Given the description of an element on the screen output the (x, y) to click on. 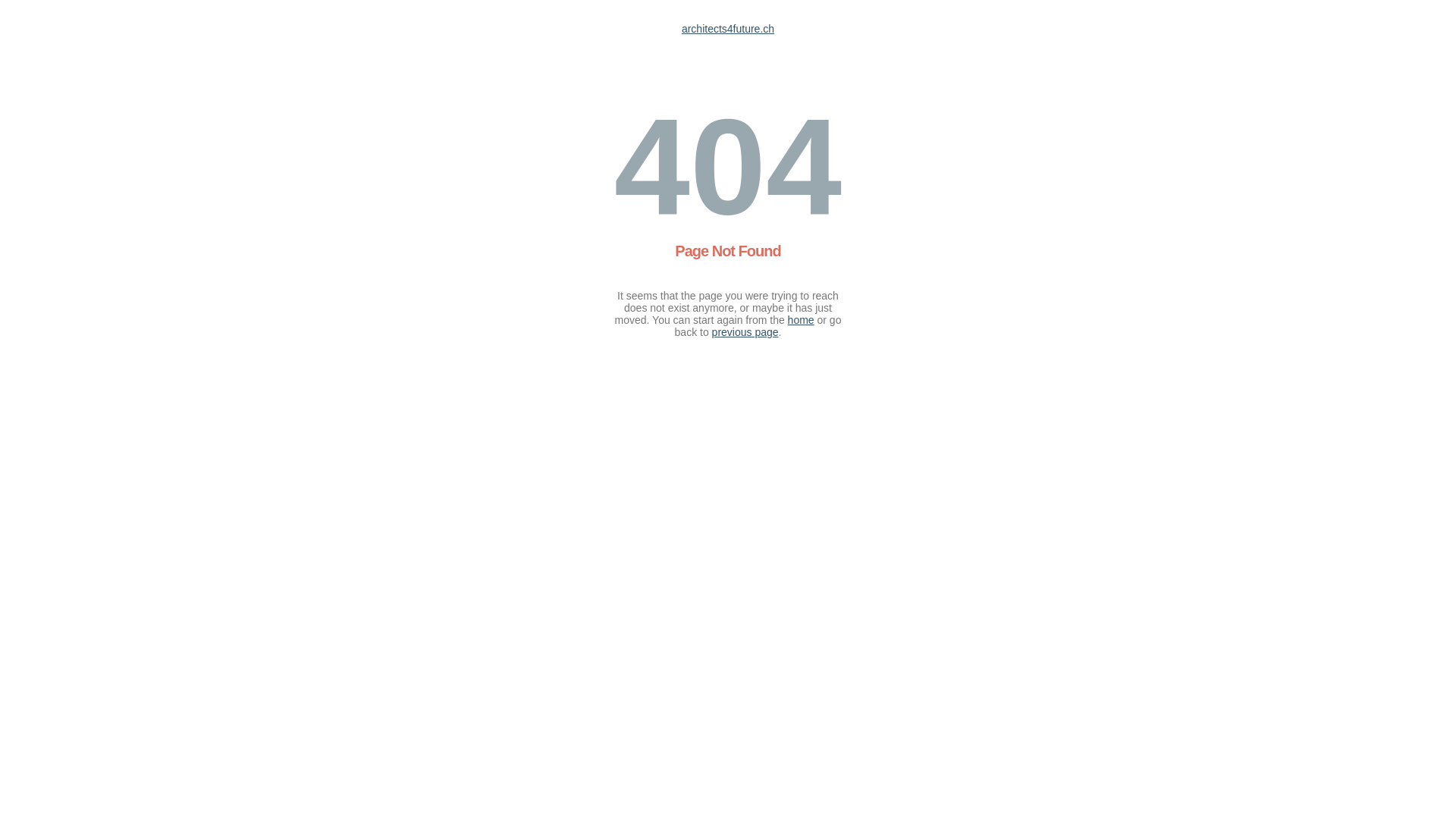
home Element type: text (800, 319)
architects4future.ch Element type: text (727, 28)
previous page Element type: text (745, 332)
